Given the description of an element on the screen output the (x, y) to click on. 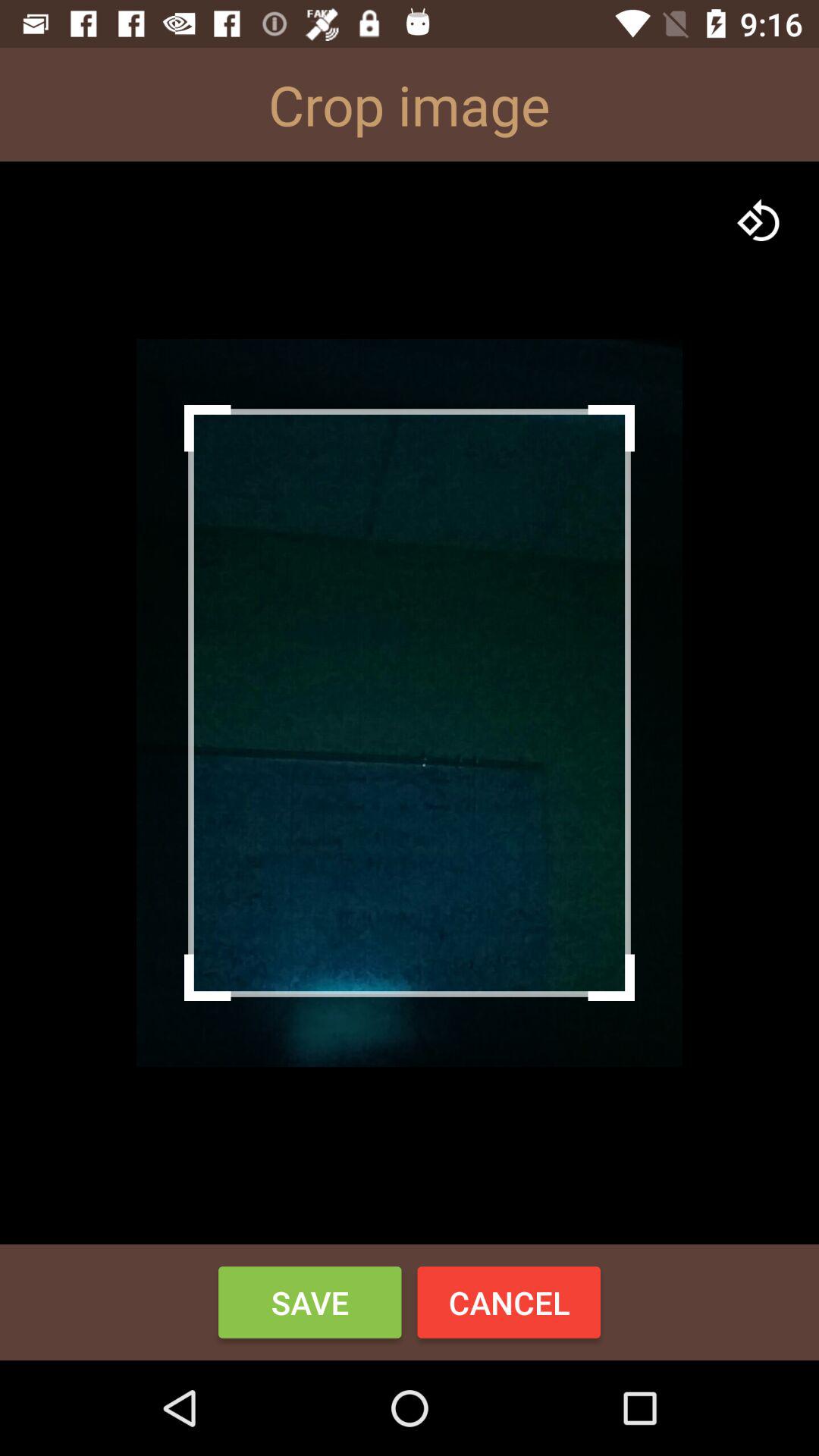
turn on icon next to cancel item (309, 1302)
